Given the description of an element on the screen output the (x, y) to click on. 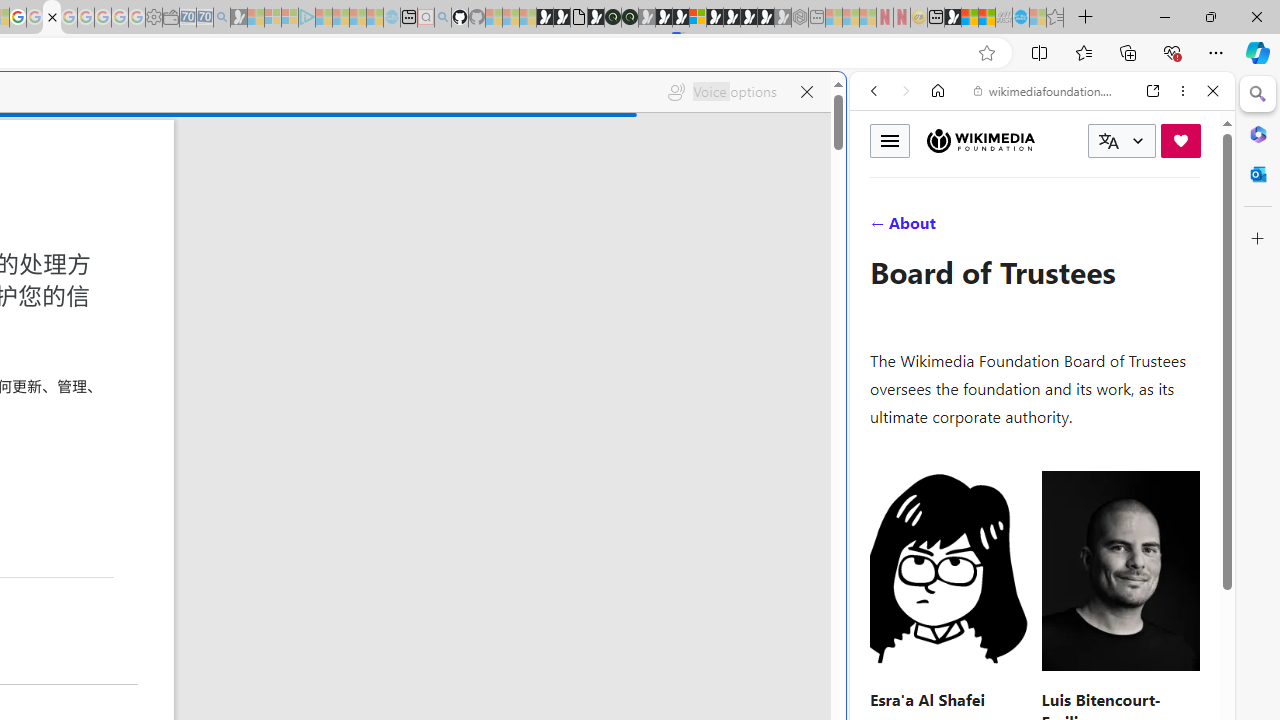
wikimediafoundation.org (1045, 90)
